Given the description of an element on the screen output the (x, y) to click on. 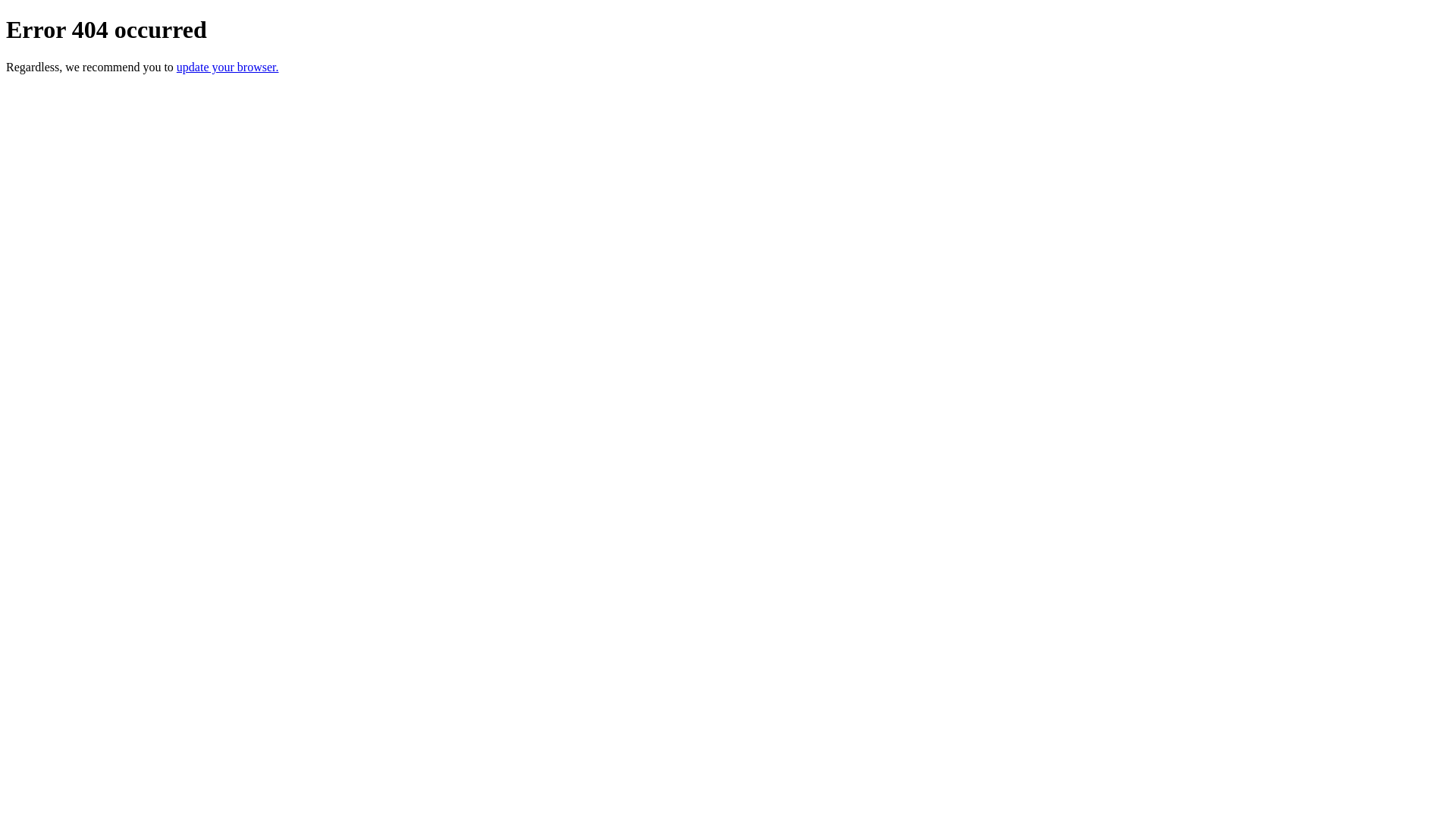
update your browser. Element type: text (227, 66)
